Given the description of an element on the screen output the (x, y) to click on. 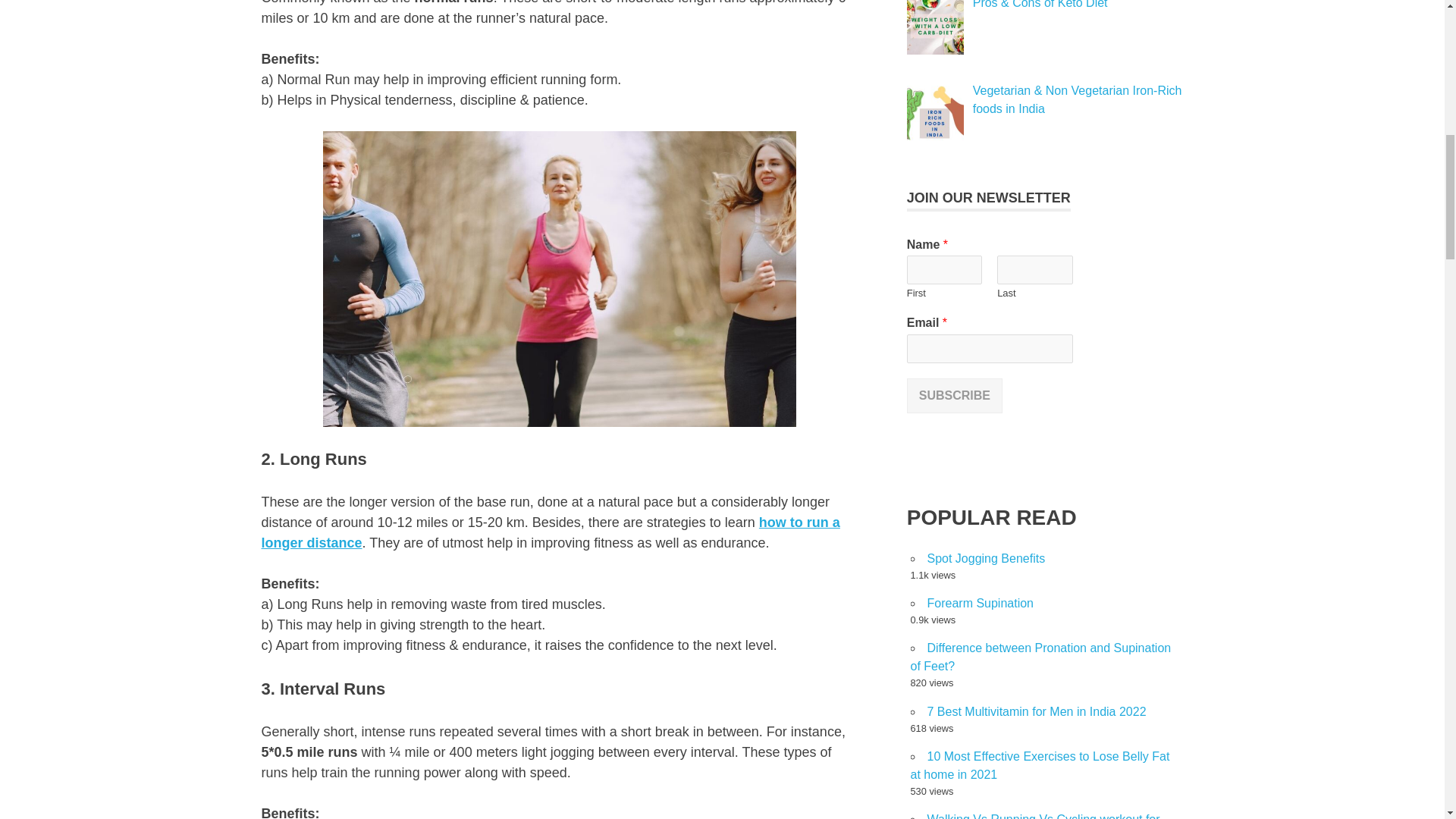
how to run a longer distance (550, 531)
